Given the description of an element on the screen output the (x, y) to click on. 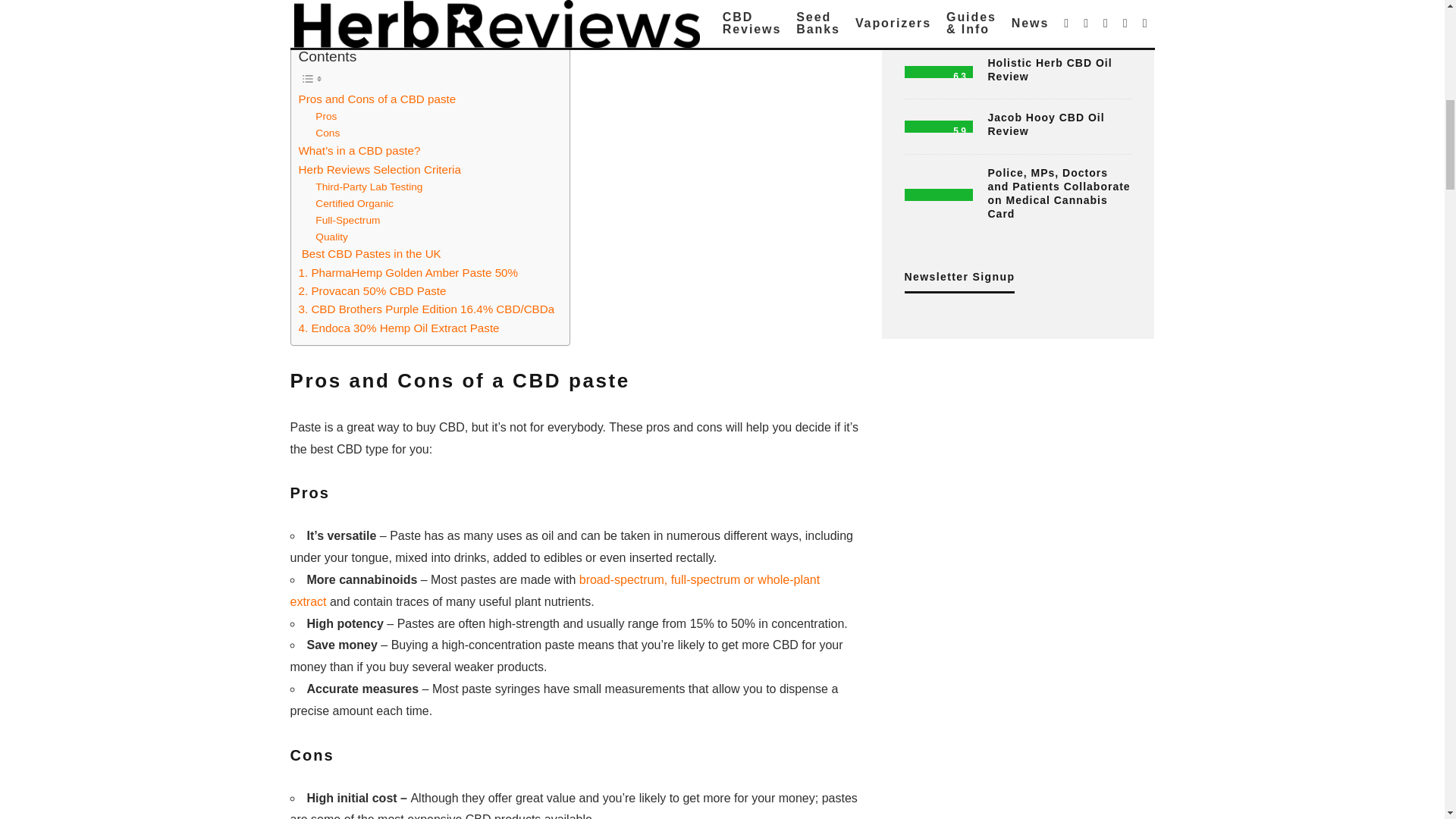
Pros and Cons of a CBD paste (377, 99)
Full-Spectrum (347, 220)
Third-Party Lab Testing (368, 187)
Pros and Cons of a CBD paste (377, 99)
Quality (331, 237)
Pros (325, 116)
Learn more here (566, 10)
Certified Organic (354, 203)
